Given the description of an element on the screen output the (x, y) to click on. 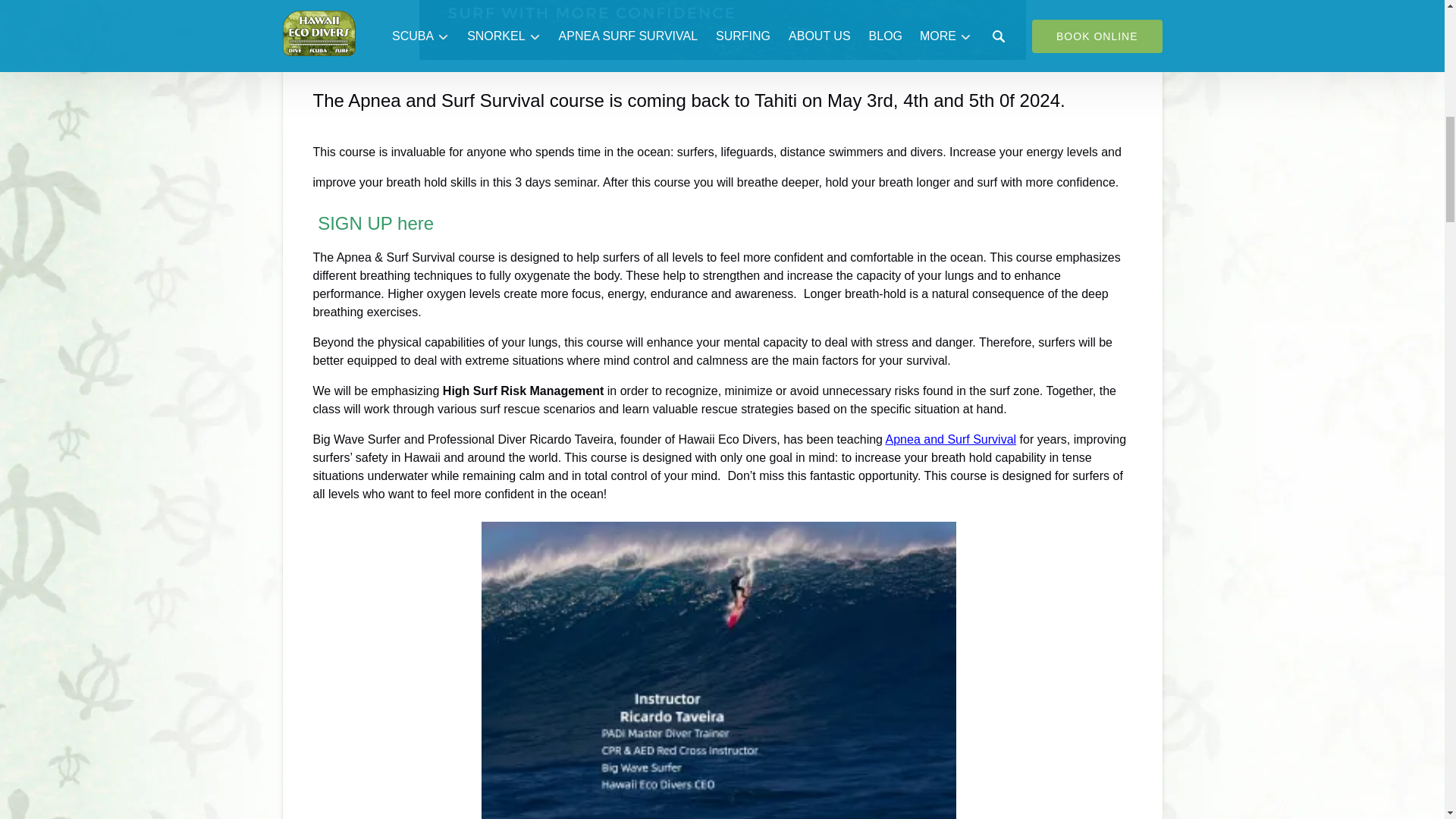
Apnea and Surf Survival (950, 439)
FareHarbor (1342, 64)
SIGN UP here (375, 222)
